Given the description of an element on the screen output the (x, y) to click on. 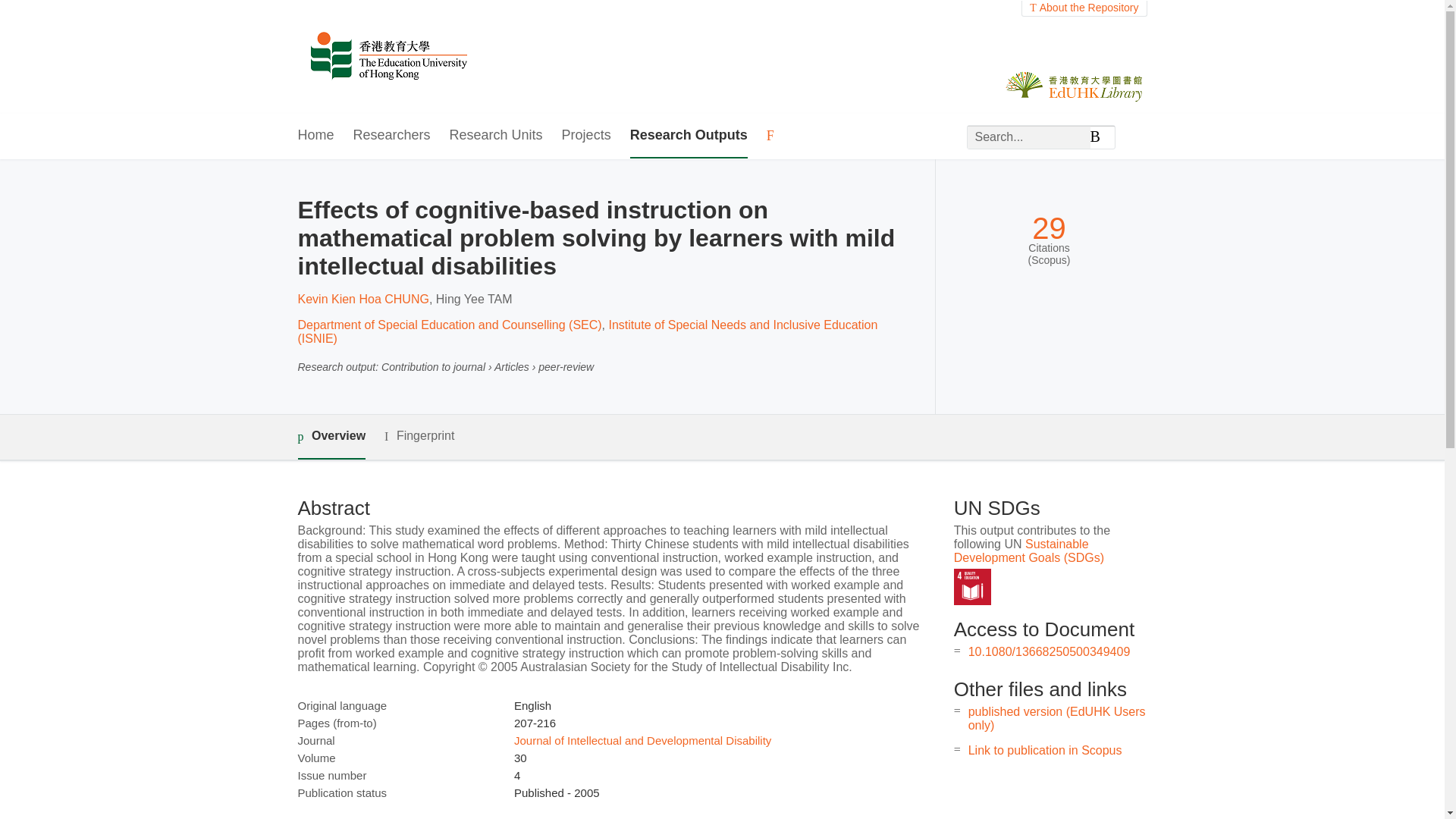
SDG 4 - Quality Education (972, 587)
About the Repository (1083, 7)
Researchers (391, 135)
Link to publication in Scopus (1045, 749)
EdUHK Research Repository Home (388, 56)
Fingerprint (419, 435)
Research Outputs (689, 135)
Overview (331, 436)
29 (1048, 228)
Kevin Kien Hoa CHUNG (362, 298)
Projects (586, 135)
Journal of Intellectual and Developmental Disability (642, 739)
Research Units (496, 135)
